Given the description of an element on the screen output the (x, y) to click on. 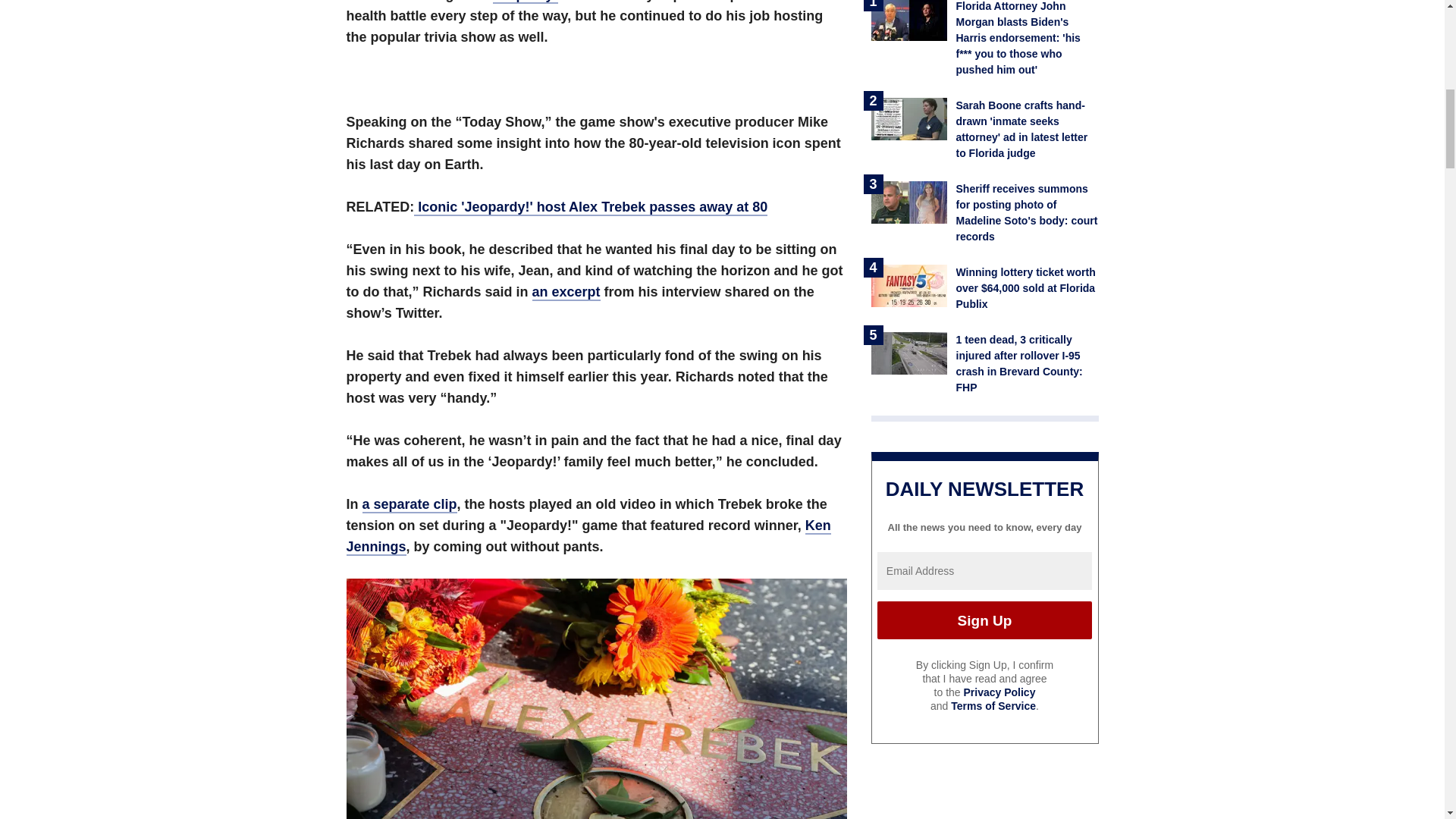
Sign Up (984, 620)
